Given the description of an element on the screen output the (x, y) to click on. 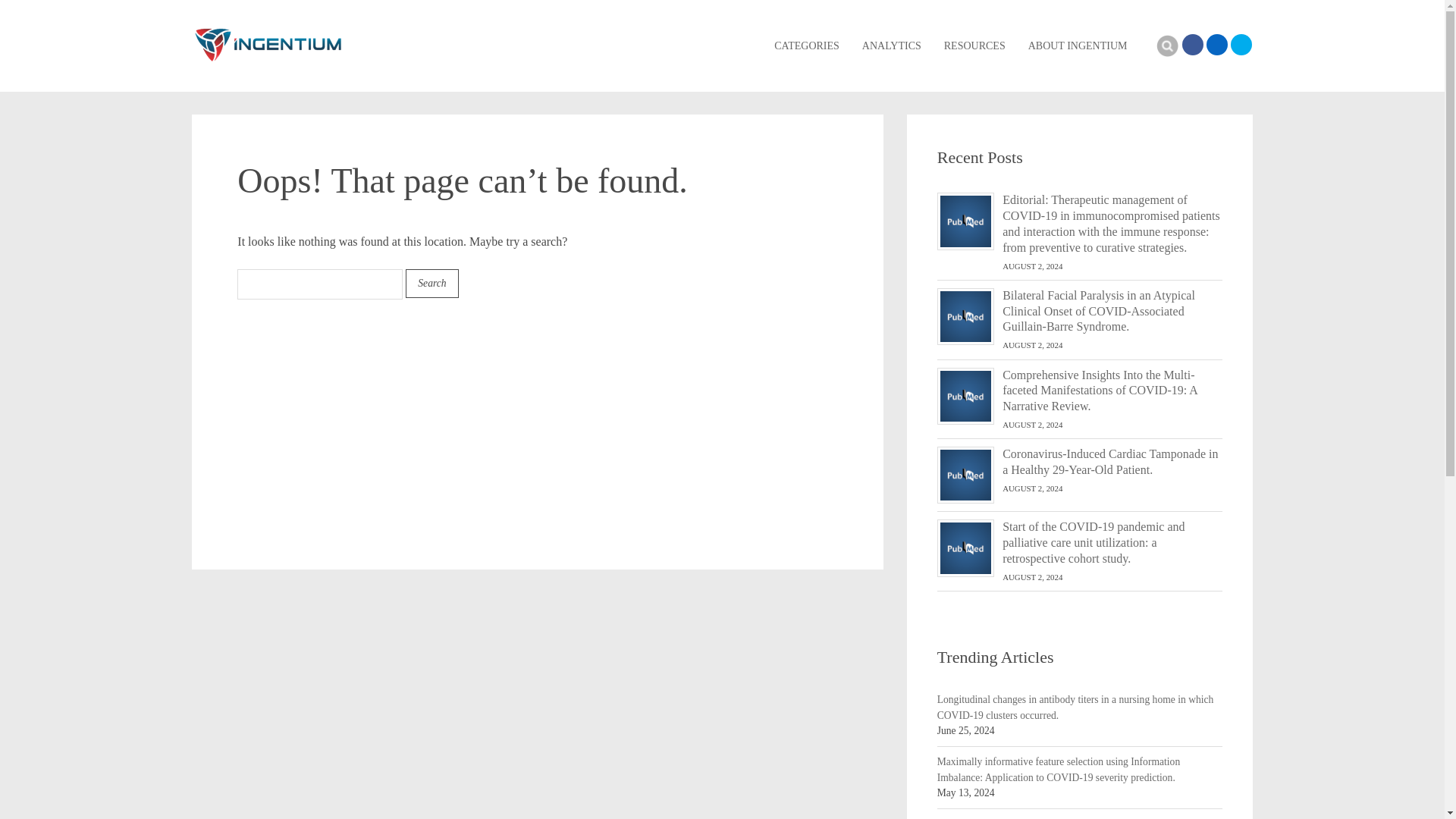
ANALYTICS (891, 46)
Search for: (320, 284)
Search (1166, 45)
Search (432, 283)
RESOURCES (974, 46)
